Given the description of an element on the screen output the (x, y) to click on. 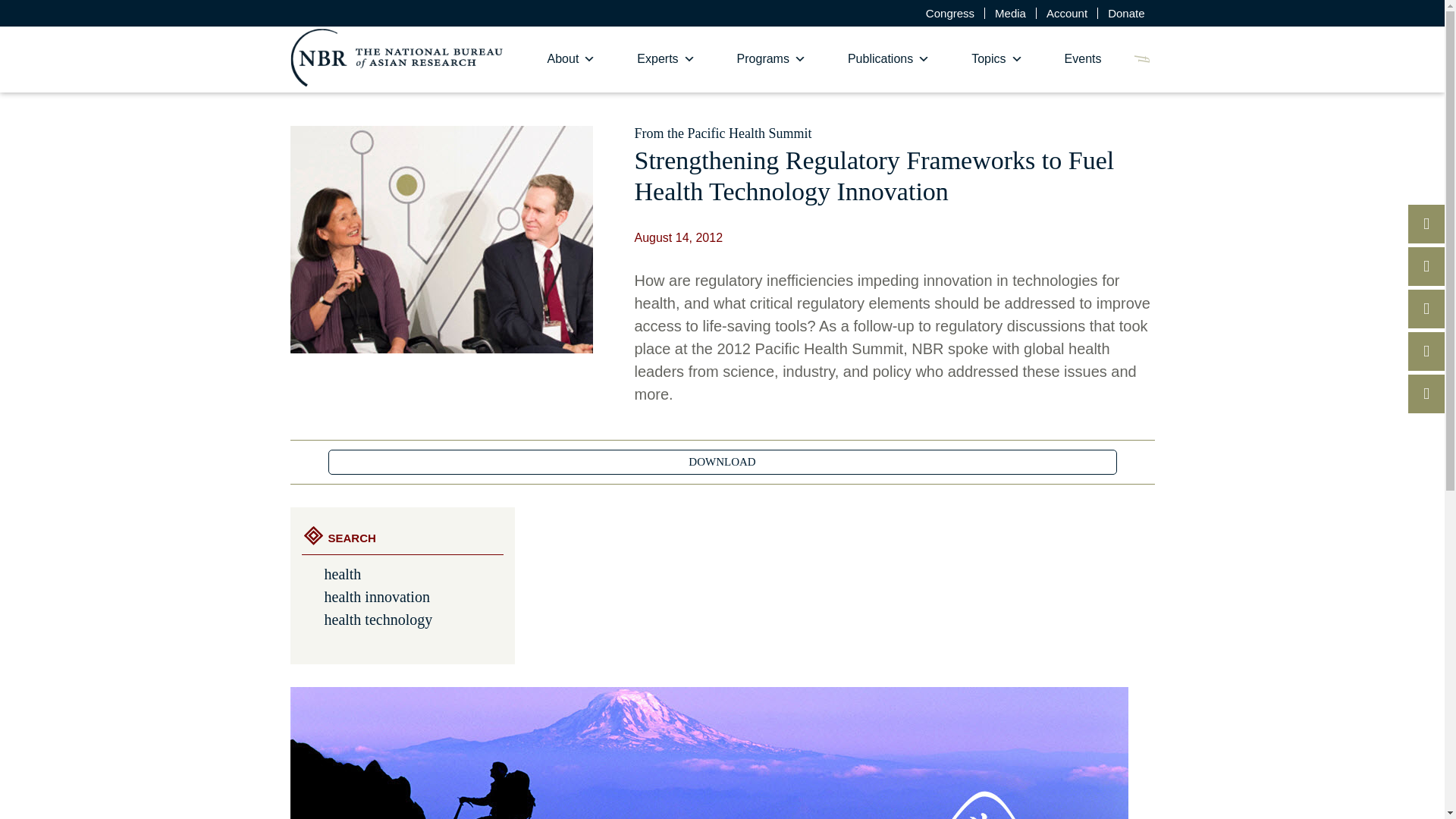
Congress (949, 12)
About (571, 59)
Experts (665, 59)
Media (1010, 12)
Donate (1125, 12)
Programs (771, 59)
Account (1066, 12)
